Given the description of an element on the screen output the (x, y) to click on. 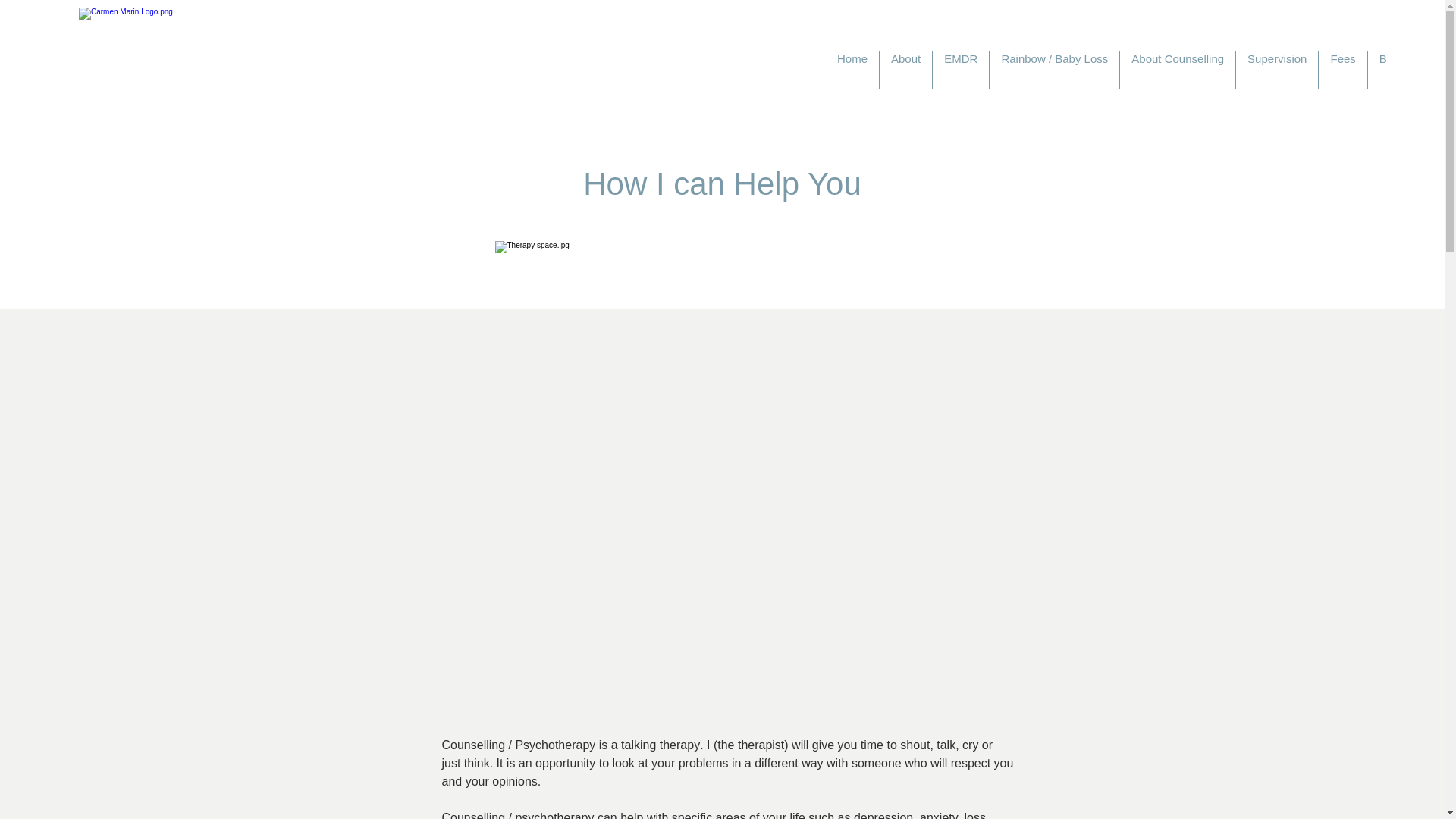
About (905, 69)
Home (852, 69)
EMDR (960, 69)
Fees (1343, 69)
Blog (1390, 69)
Supervision (1276, 69)
